Given the description of an element on the screen output the (x, y) to click on. 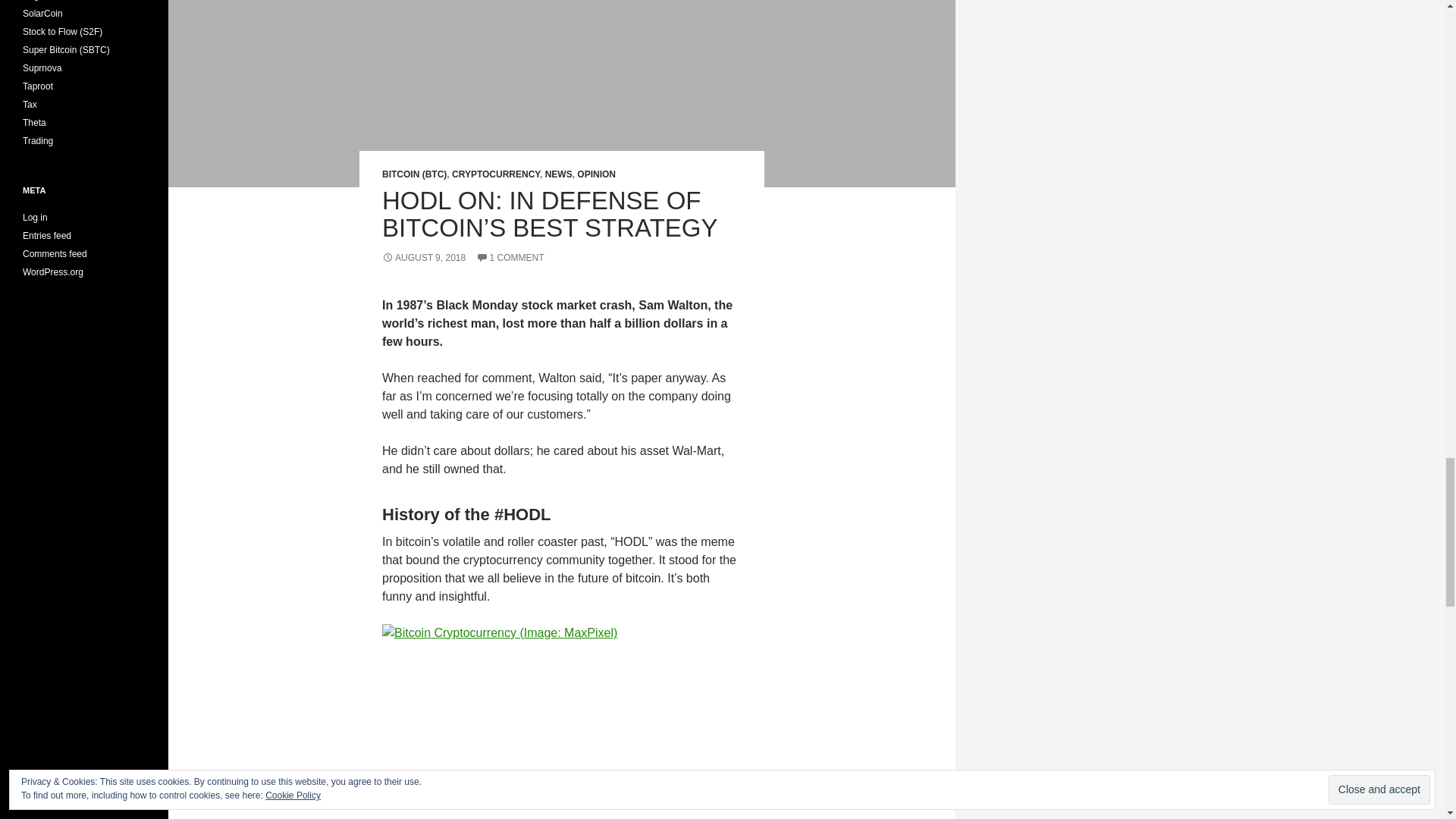
NEWS (558, 173)
OPINION (595, 173)
1 COMMENT (510, 257)
CRYPTOCURRENCY (495, 173)
AUGUST 9, 2018 (423, 257)
